Given the description of an element on the screen output the (x, y) to click on. 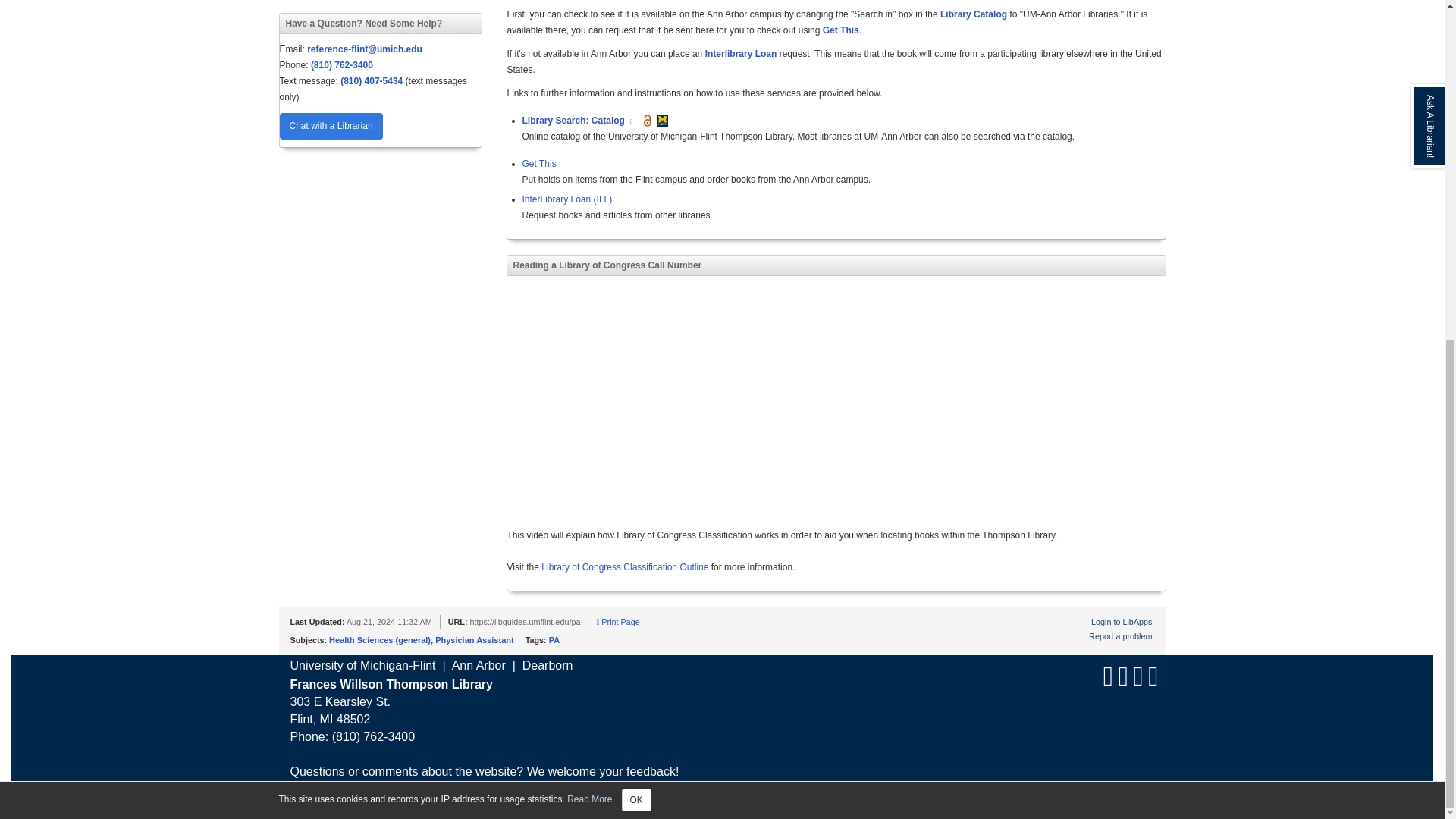
Read More (589, 225)
This link opens in a new window (631, 121)
OK (635, 225)
